Given the description of an element on the screen output the (x, y) to click on. 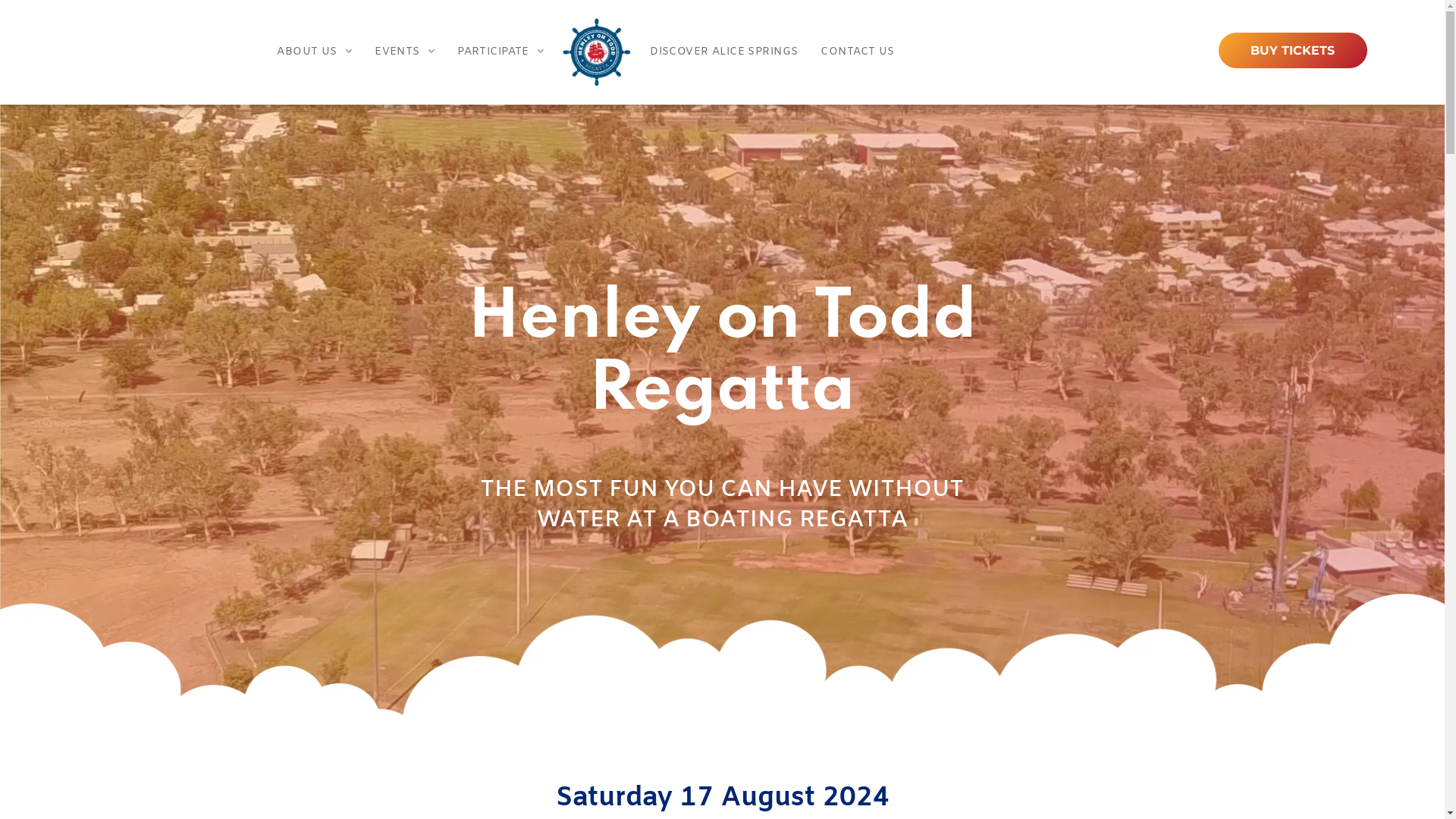
EVENTS Element type: text (404, 52)
DISCOVER ALICE SPRINGS Element type: text (723, 52)
ABOUT US Element type: text (314, 52)
CONTACT US Element type: text (857, 52)
PARTICIPATE Element type: text (500, 52)
BUY TICKETS Element type: text (1292, 50)
